Given the description of an element on the screen output the (x, y) to click on. 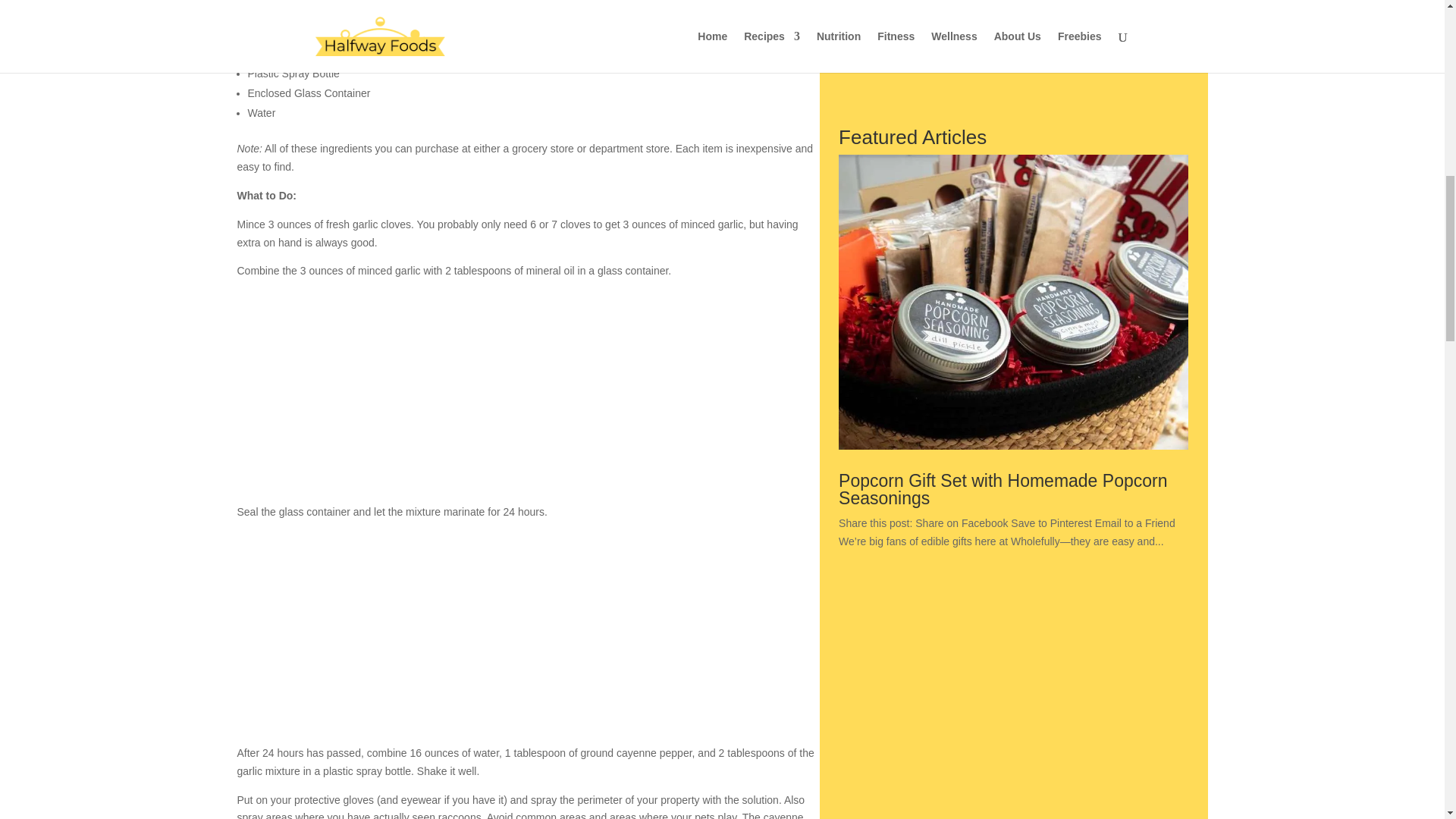
Advertisement (1013, 56)
Advertisement (526, 397)
Advertisement (526, 638)
Popcorn Gift Set with Homemade Popcorn Seasonings (1002, 488)
Advertisement (1013, 717)
